Given the description of an element on the screen output the (x, y) to click on. 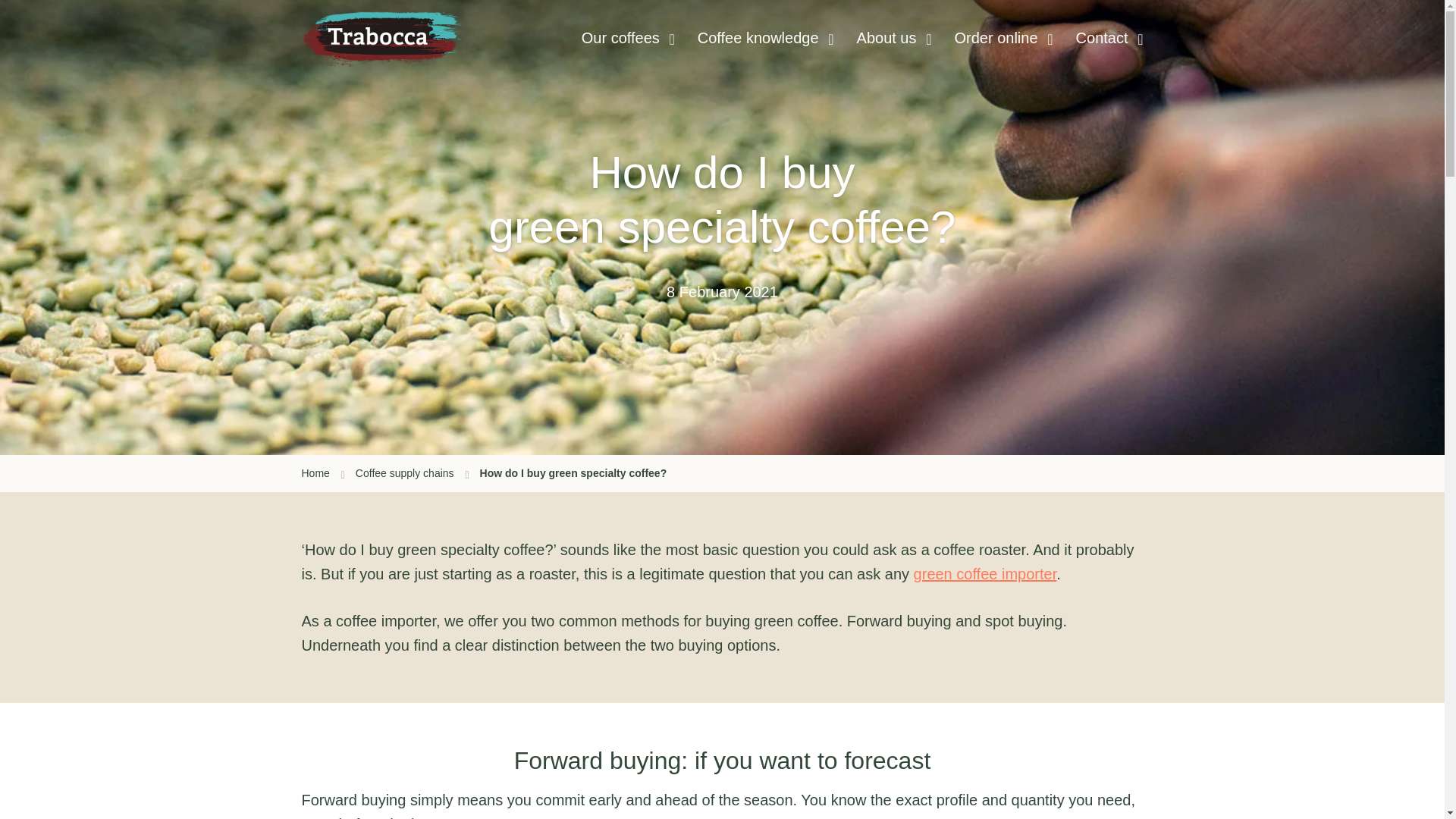
green coffee importer (985, 573)
Order online (994, 38)
Our coffees (619, 38)
Home (323, 473)
Contact (1101, 38)
Coffee supply chains (411, 473)
Home (323, 473)
Coffee supply chains (411, 473)
Coffee knowledge (757, 38)
About us (887, 38)
